Given the description of an element on the screen output the (x, y) to click on. 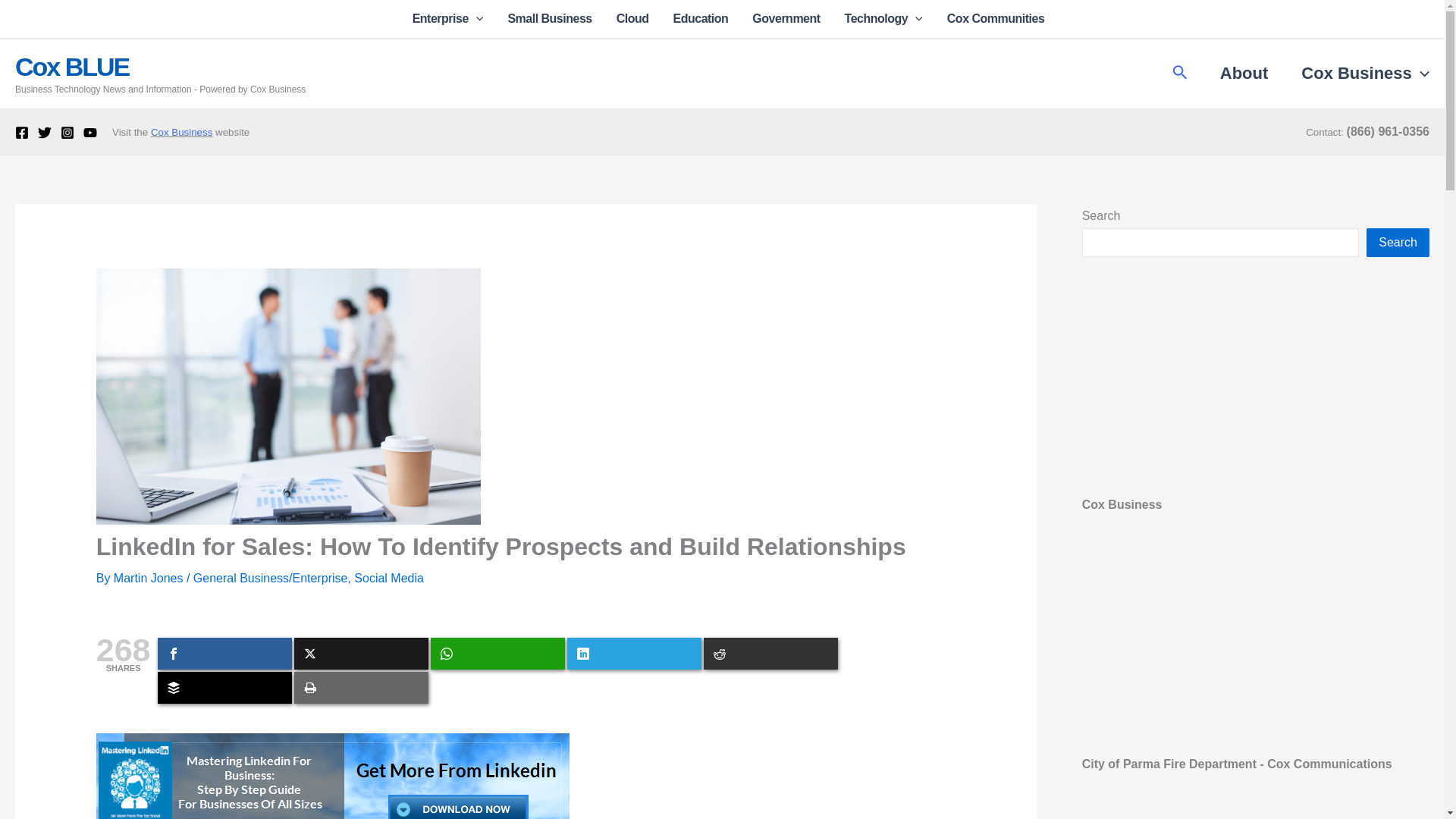
City of Parma Fire Department (1255, 648)
Cox Business (1356, 73)
About (1244, 73)
Cox Communities (989, 18)
Government (785, 18)
Cloud (632, 18)
Cox Business (181, 132)
Technology (883, 18)
Education (701, 18)
Small Business (549, 18)
